Given the description of an element on the screen output the (x, y) to click on. 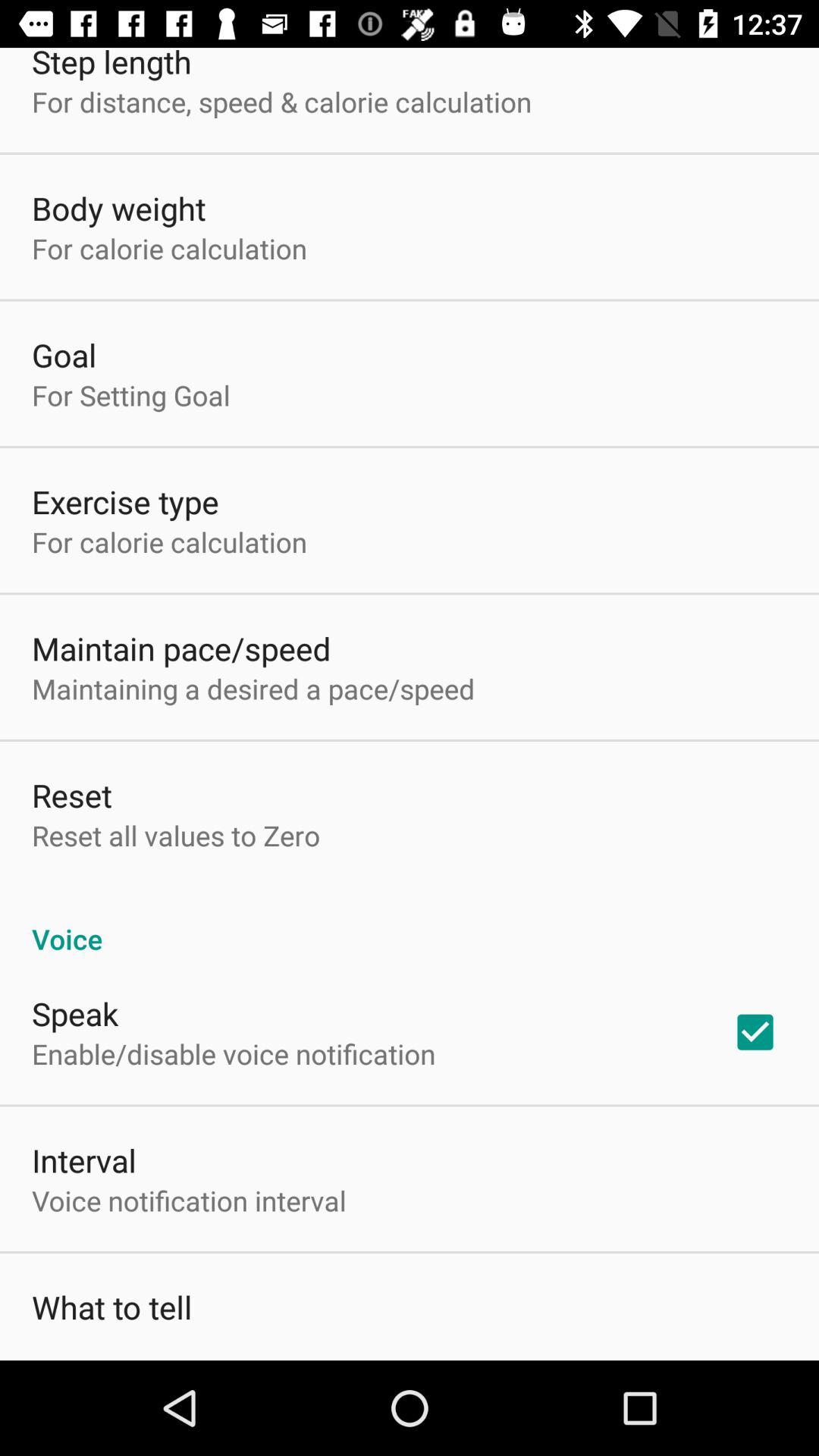
jump to the body weight item (118, 207)
